Given the description of an element on the screen output the (x, y) to click on. 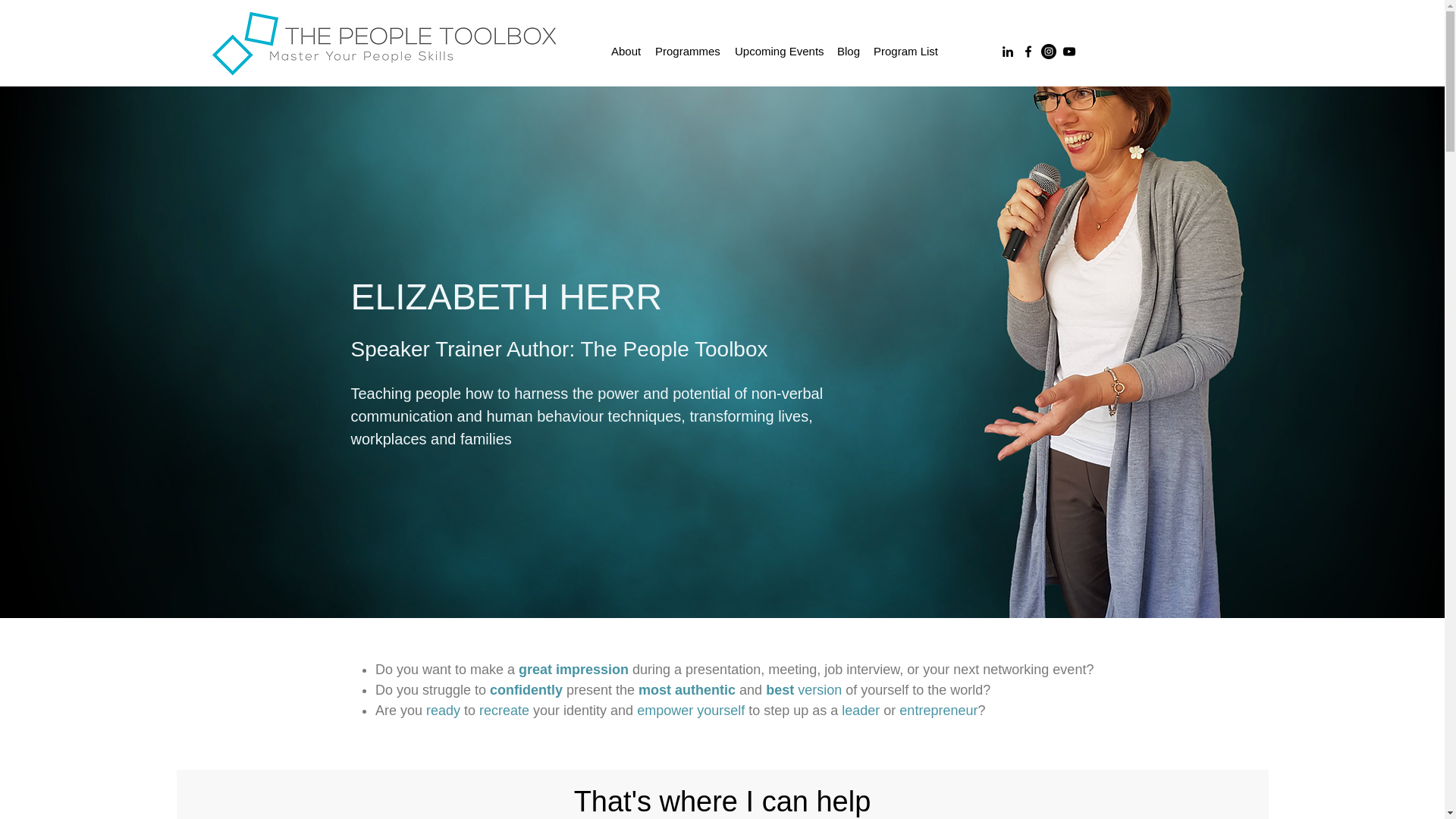
Blog (847, 50)
Programmes (686, 50)
About (625, 50)
Upcoming Events (777, 50)
Program List (905, 50)
